Given the description of an element on the screen output the (x, y) to click on. 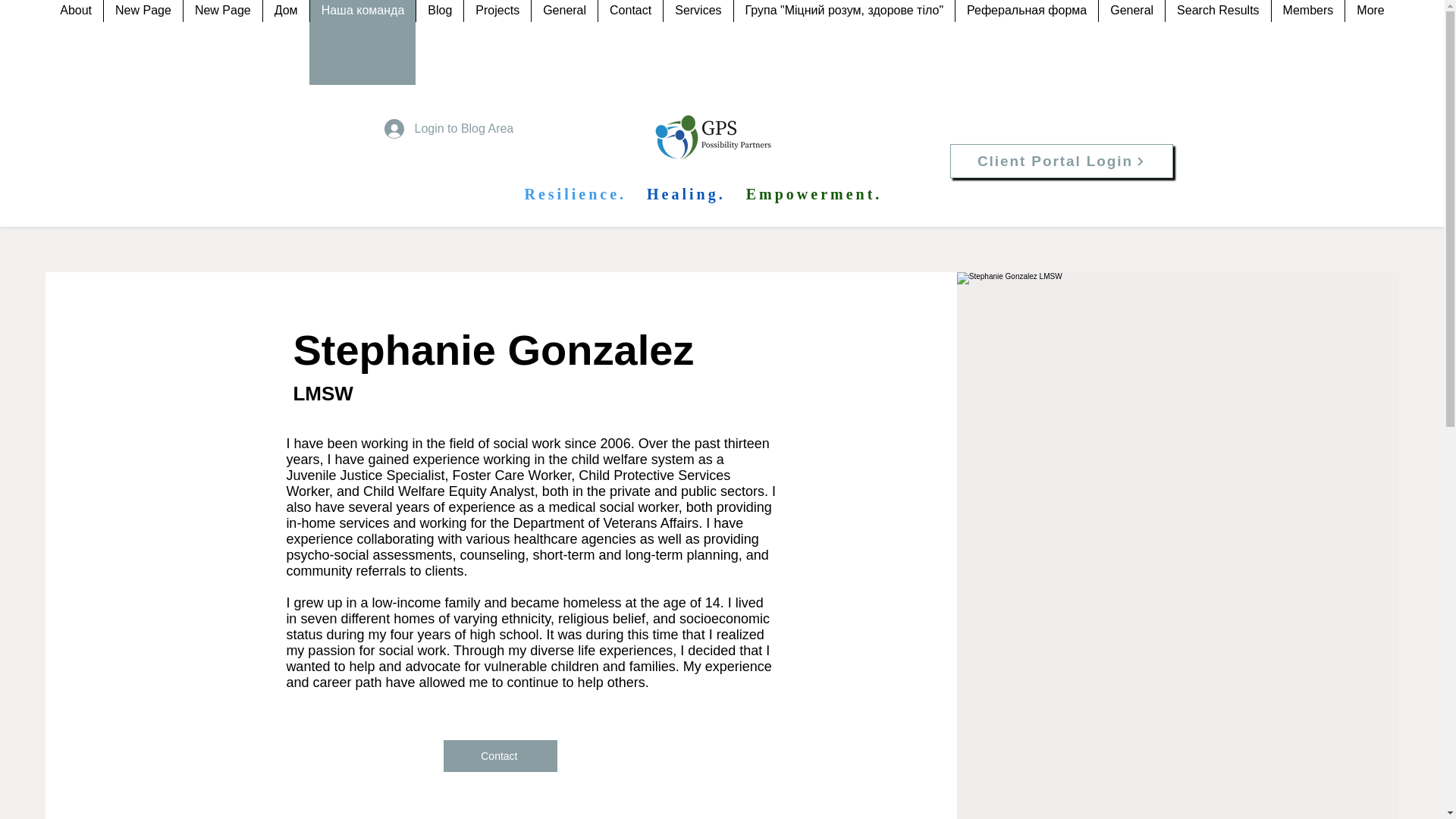
About (75, 42)
GPS Logo (722, 136)
Search Results (1217, 42)
New Page (222, 42)
Projects (497, 42)
Services (697, 42)
New Page (143, 42)
General (1130, 42)
Contact (629, 42)
Blog (438, 42)
General (563, 42)
